Given the description of an element on the screen output the (x, y) to click on. 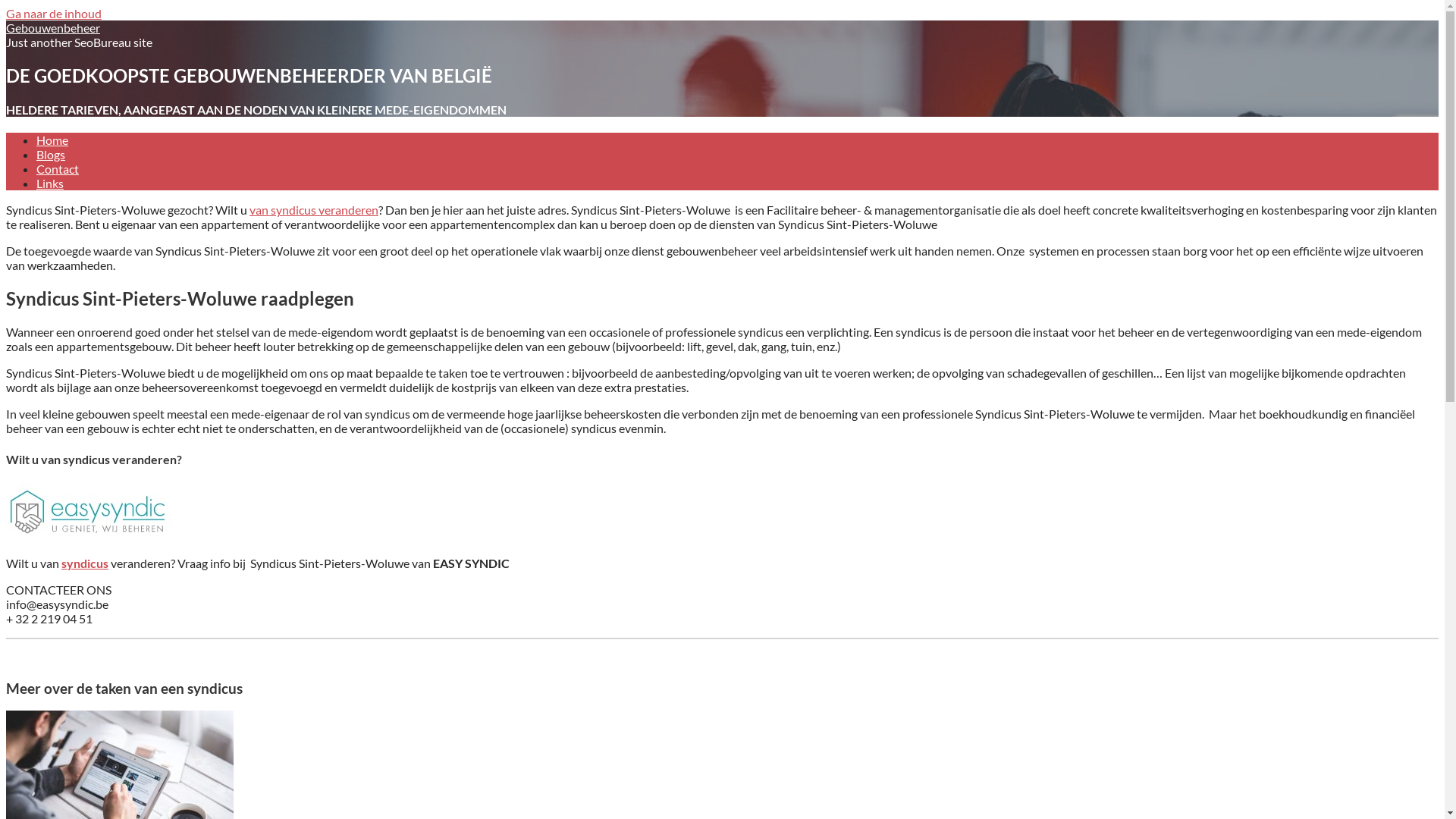
Gebouwenbeheer Element type: text (53, 27)
Contact Element type: text (57, 168)
Home Element type: text (52, 139)
Ga naar de inhoud Element type: text (53, 13)
Links Element type: text (49, 182)
Blogs Element type: text (50, 154)
syndicus Element type: text (84, 562)
van syndicus veranderen Element type: text (313, 209)
